Given the description of an element on the screen output the (x, y) to click on. 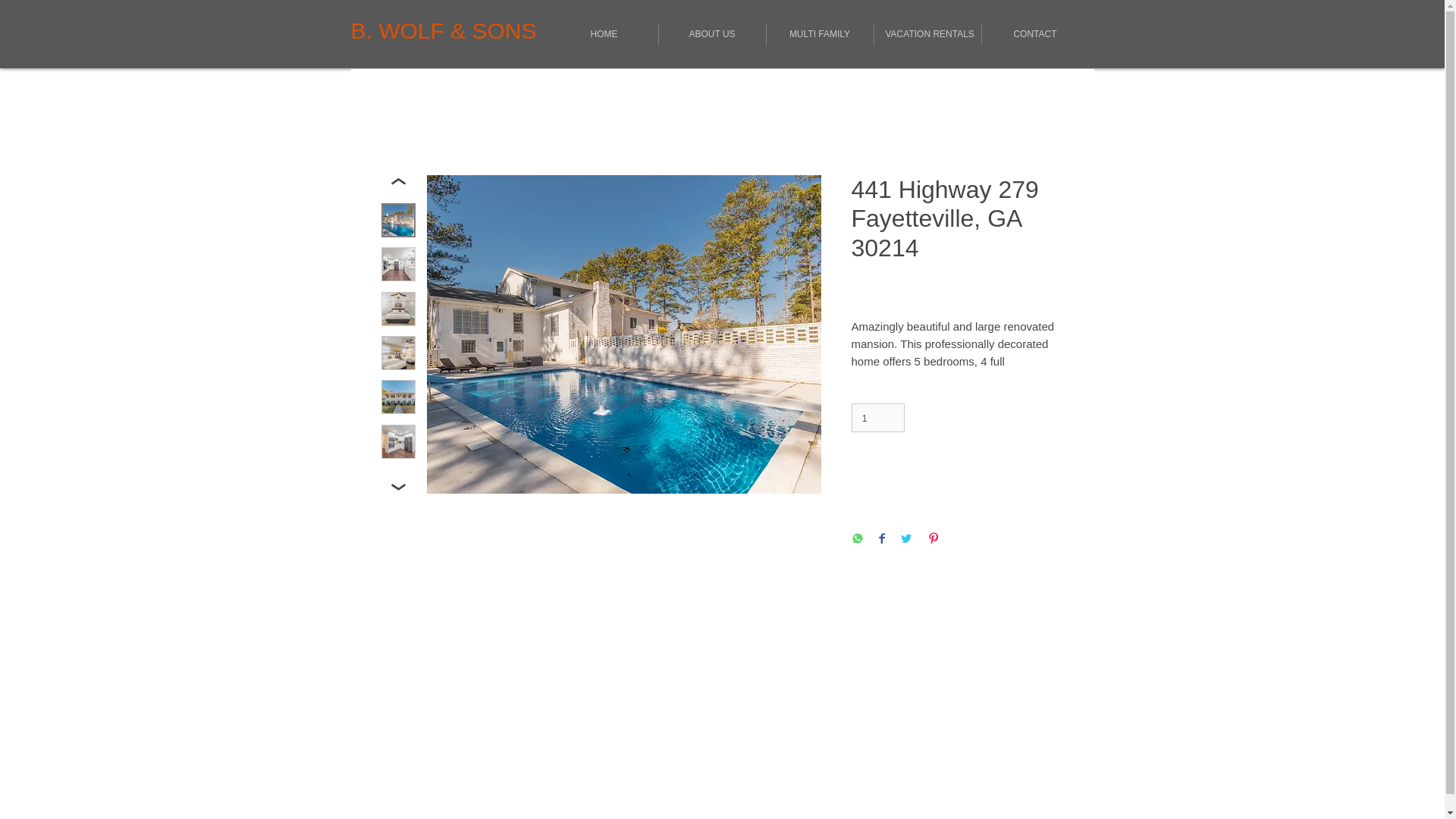
MULTI FAMILY (818, 33)
Add to Cart (956, 471)
CONTACT (1034, 33)
HOME (604, 33)
1 (877, 417)
ABOUT US (711, 33)
VACATION RENTALS (926, 33)
